Given the description of an element on the screen output the (x, y) to click on. 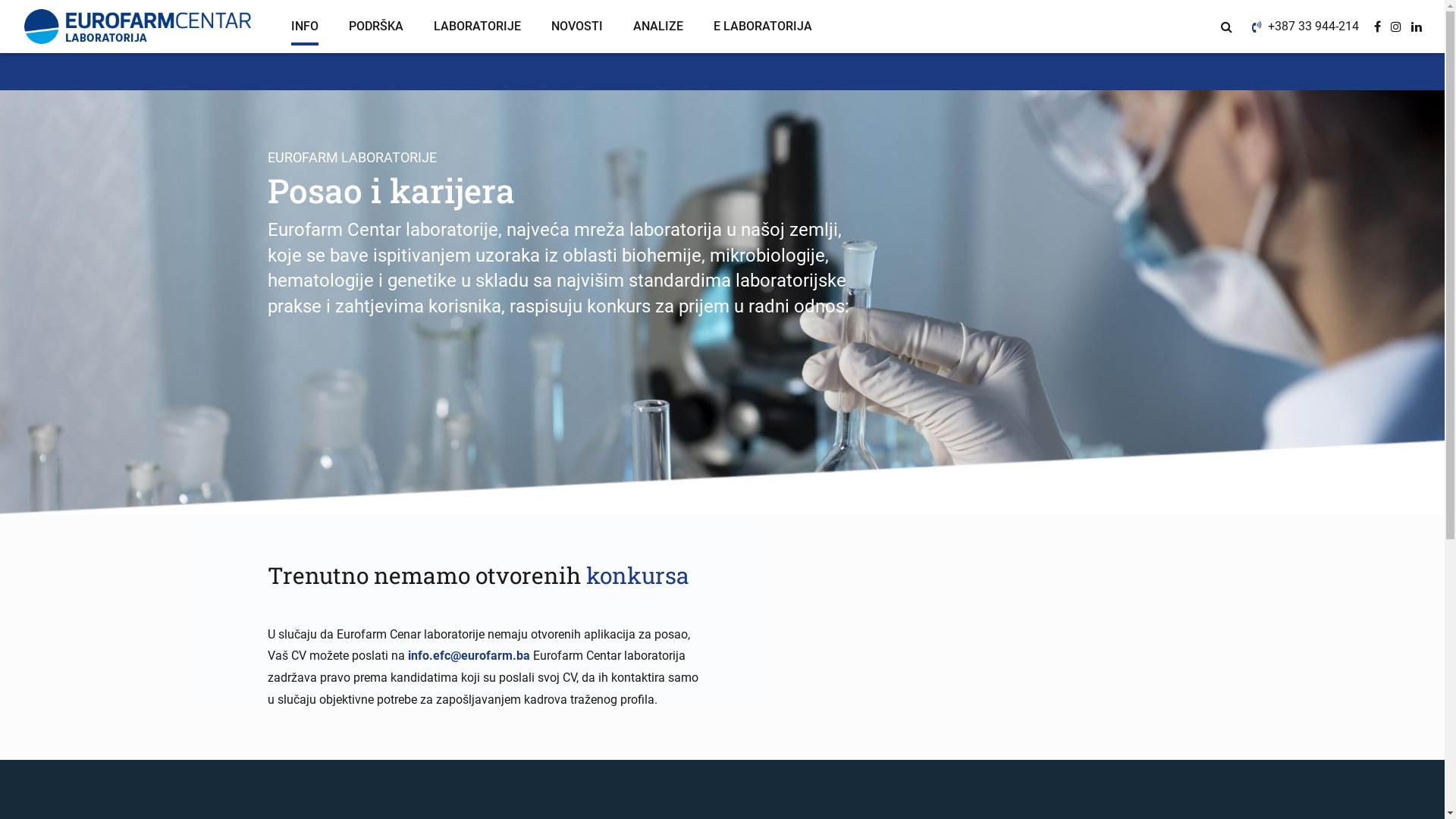
INFO Element type: text (304, 26)
ANALIZE Element type: text (658, 26)
E LABORATORIJA Element type: text (762, 26)
info.efc@eurofarm.ba Element type: text (468, 655)
NOVOSTI Element type: text (576, 26)
LABORATORIJE Element type: text (476, 26)
